Given the description of an element on the screen output the (x, y) to click on. 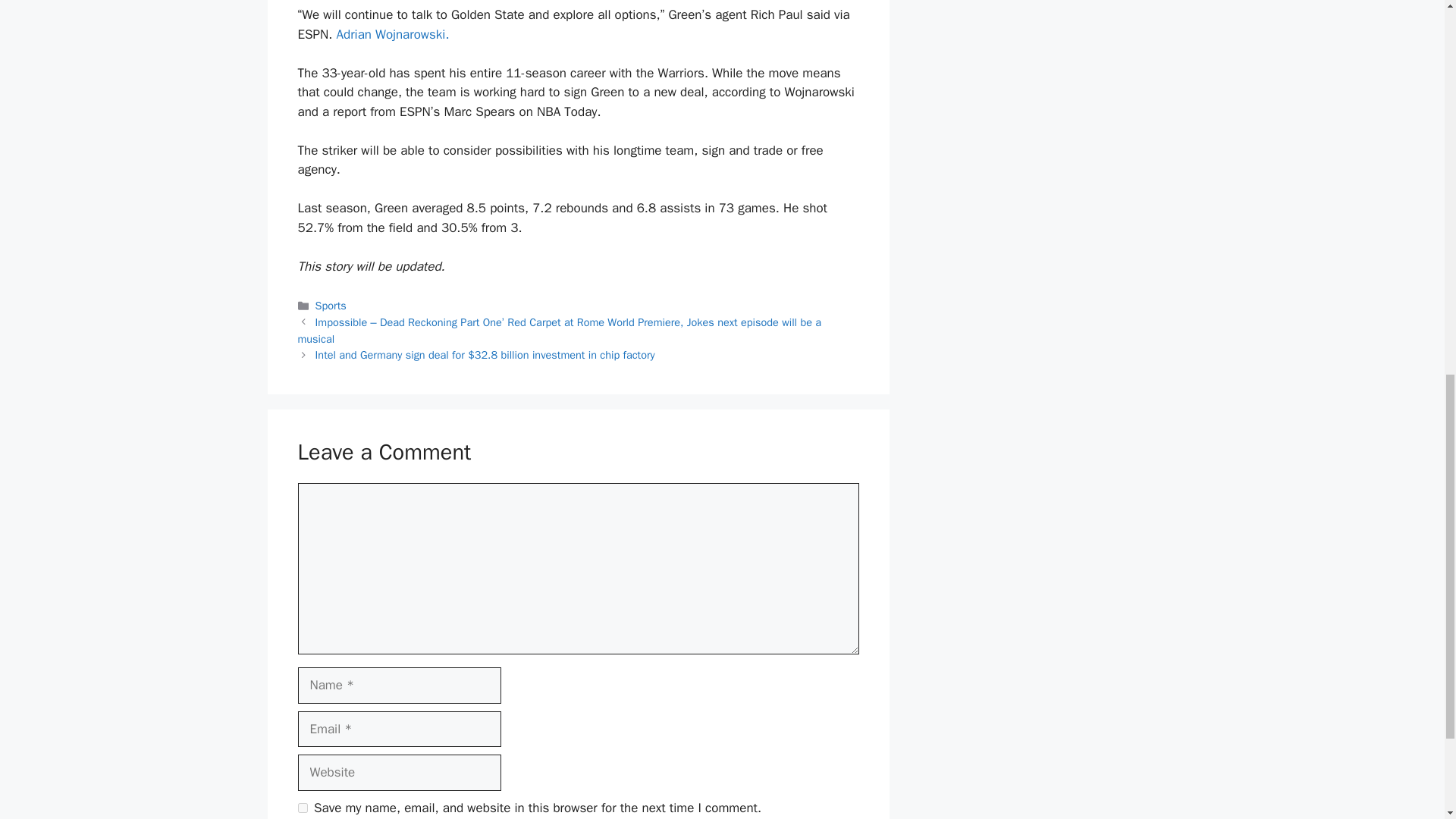
Scroll back to top (1406, 720)
yes (302, 808)
Sports (330, 305)
Adrian Wojnarowski. (392, 34)
